Given the description of an element on the screen output the (x, y) to click on. 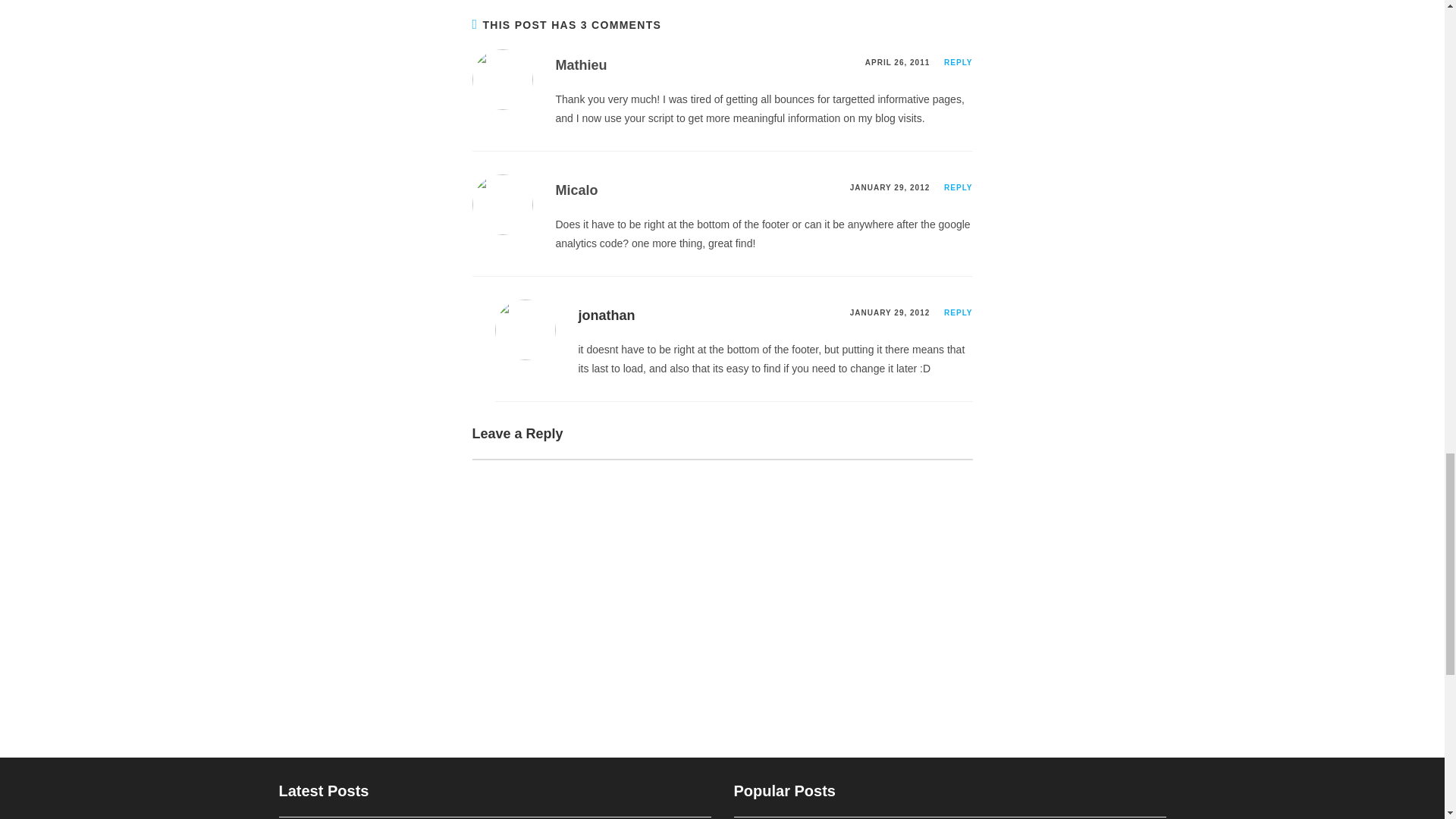
Comment Form (721, 577)
